Given the description of an element on the screen output the (x, y) to click on. 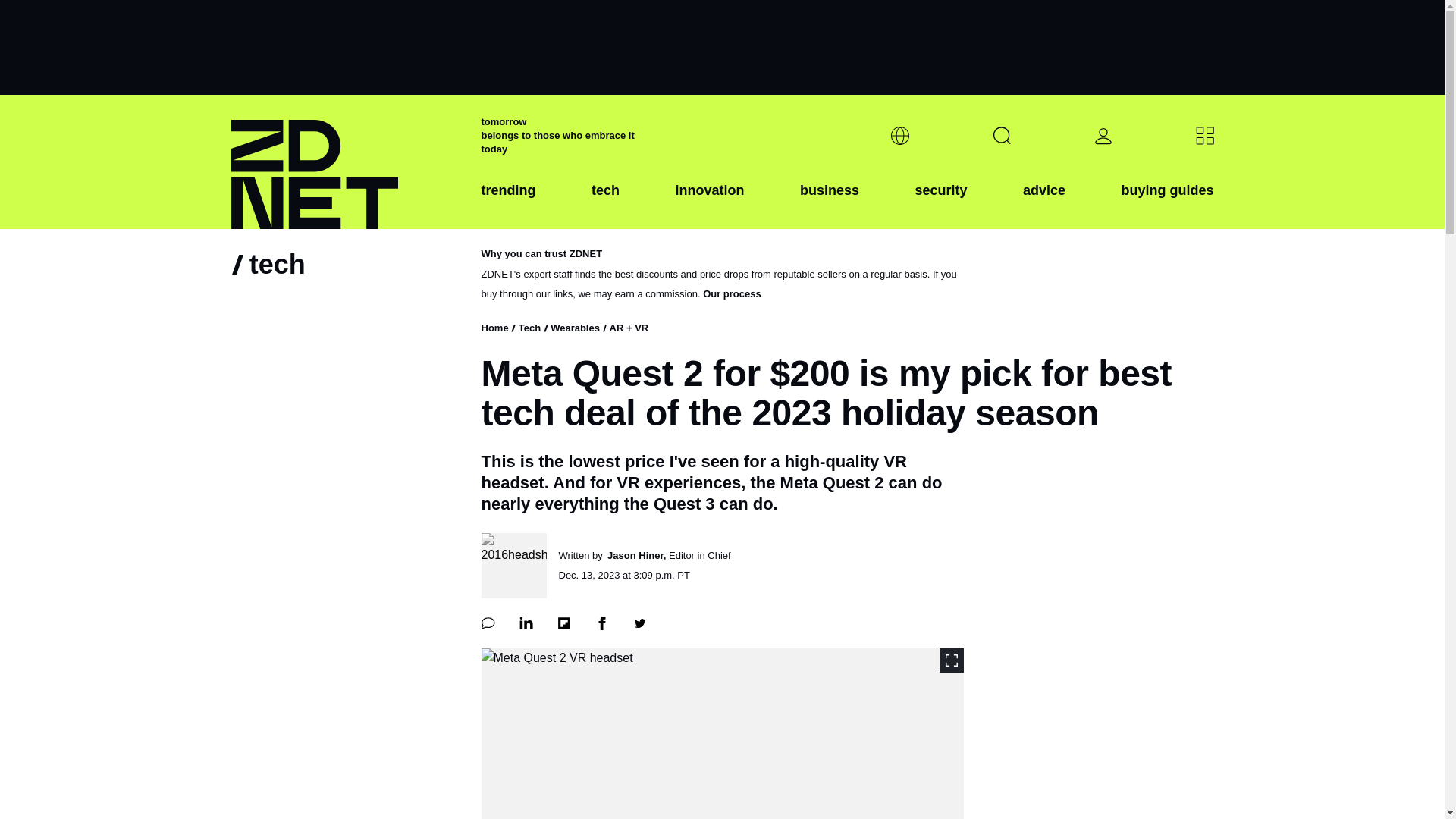
tech (605, 202)
trending (507, 202)
ZDNET (346, 162)
